Given the description of an element on the screen output the (x, y) to click on. 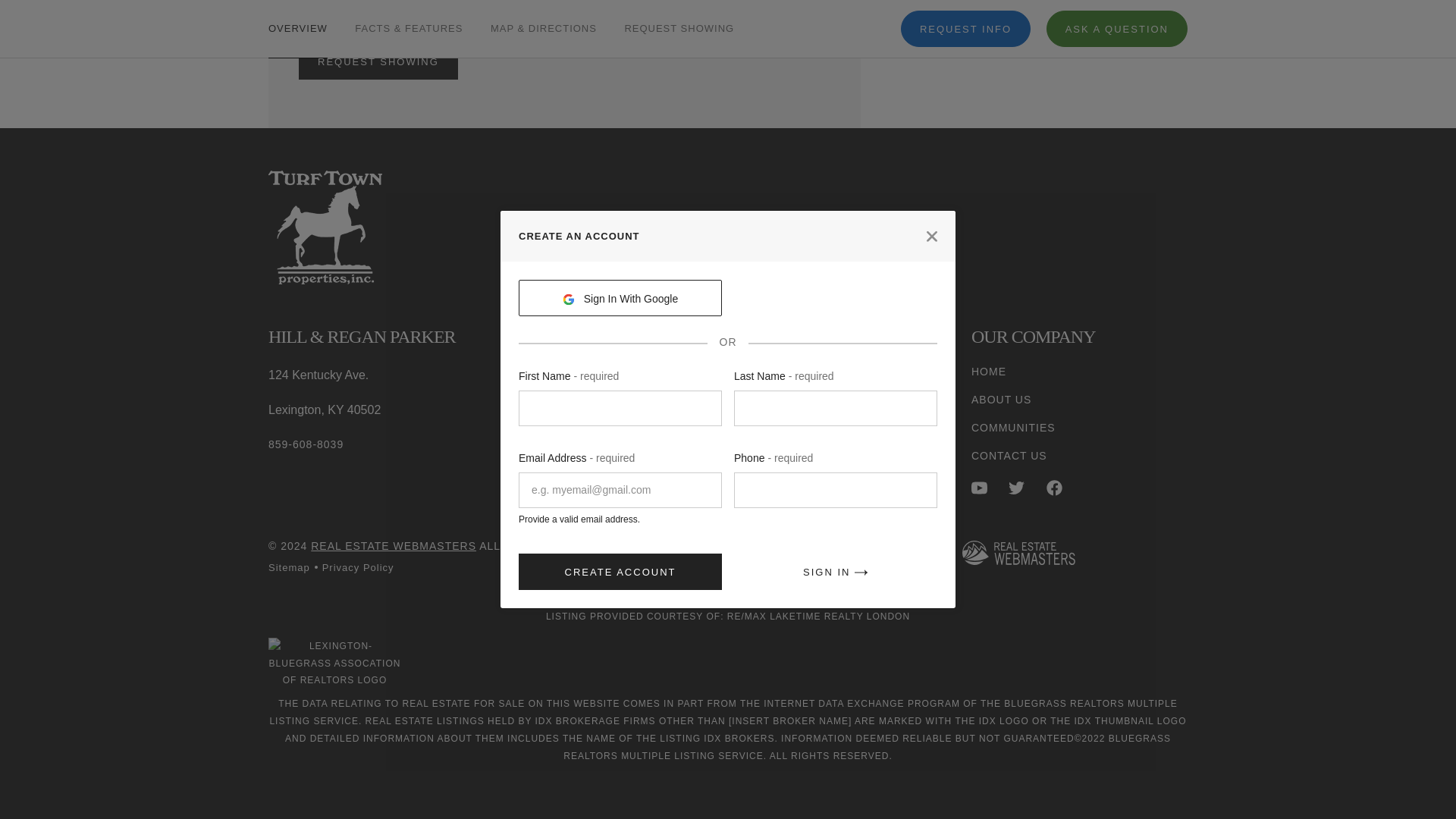
YOUTUBE (979, 487)
FACEBOOK (1054, 487)
TWITTER (1017, 487)
